Given the description of an element on the screen output the (x, y) to click on. 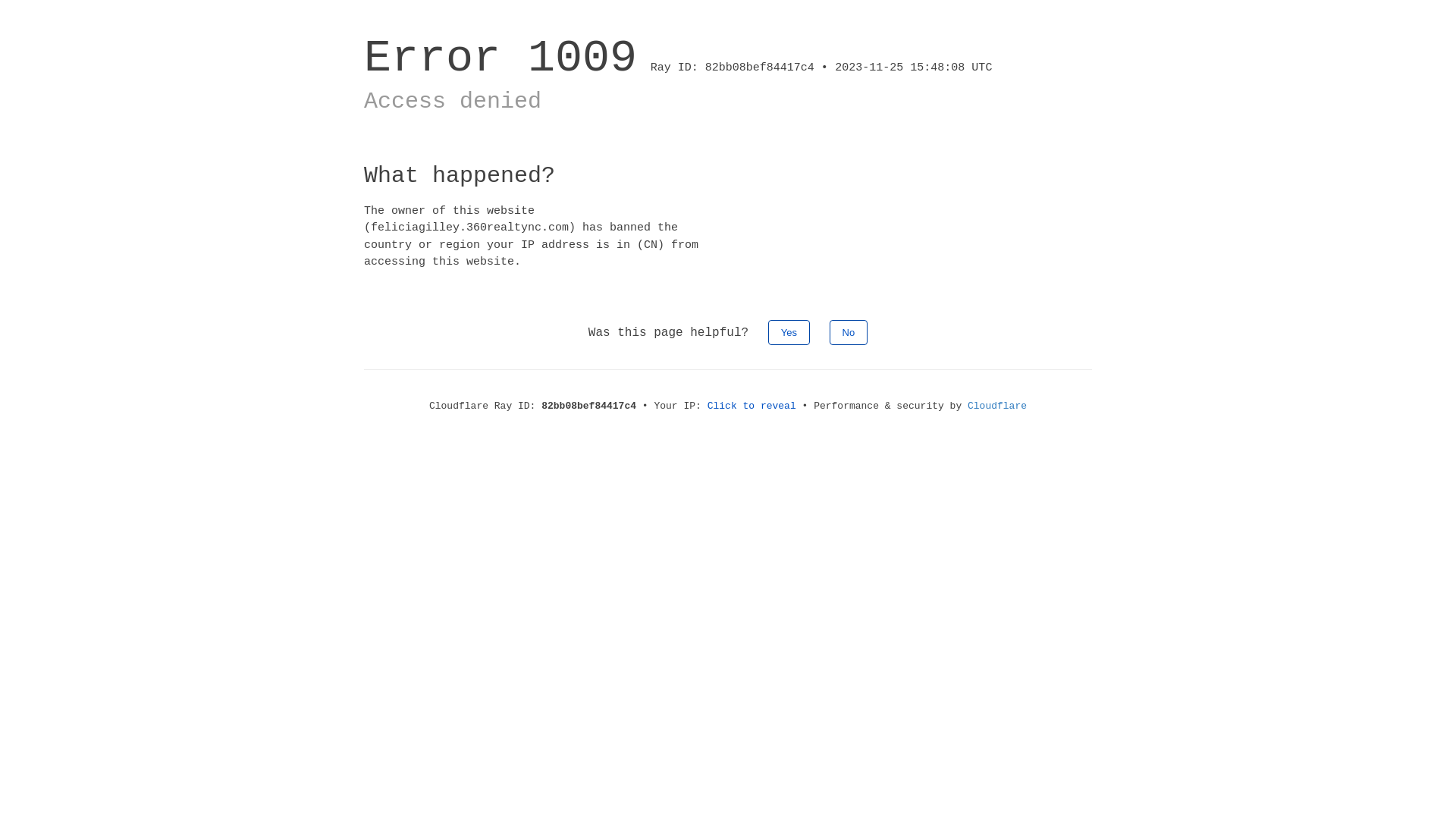
Yes Element type: text (788, 332)
No Element type: text (848, 332)
Click to reveal Element type: text (751, 405)
Cloudflare Element type: text (996, 405)
